Given the description of an element on the screen output the (x, y) to click on. 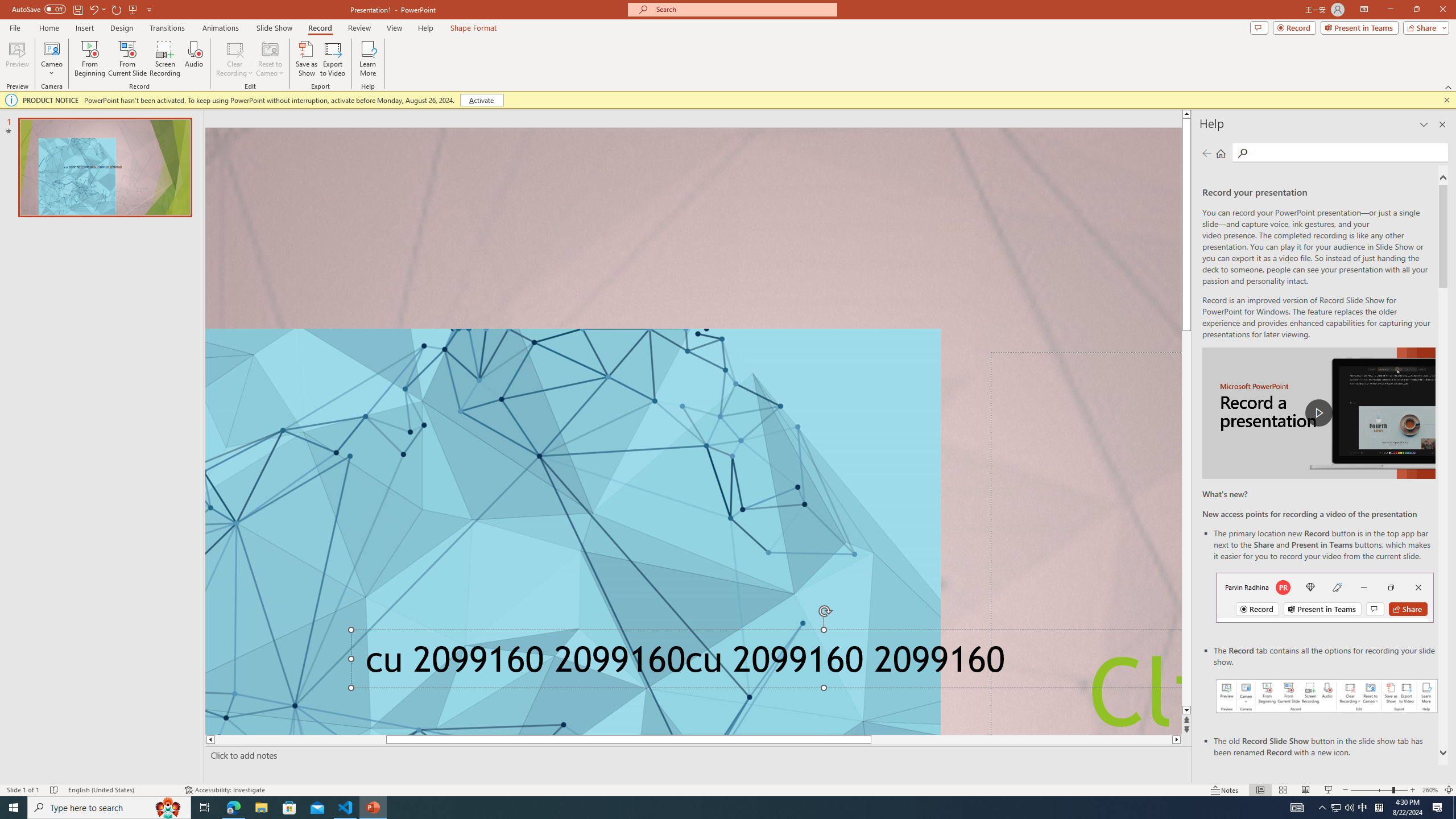
Learn More (368, 58)
From Current Slide... (127, 58)
Title TextBox (1086, 543)
